Given the description of an element on the screen output the (x, y) to click on. 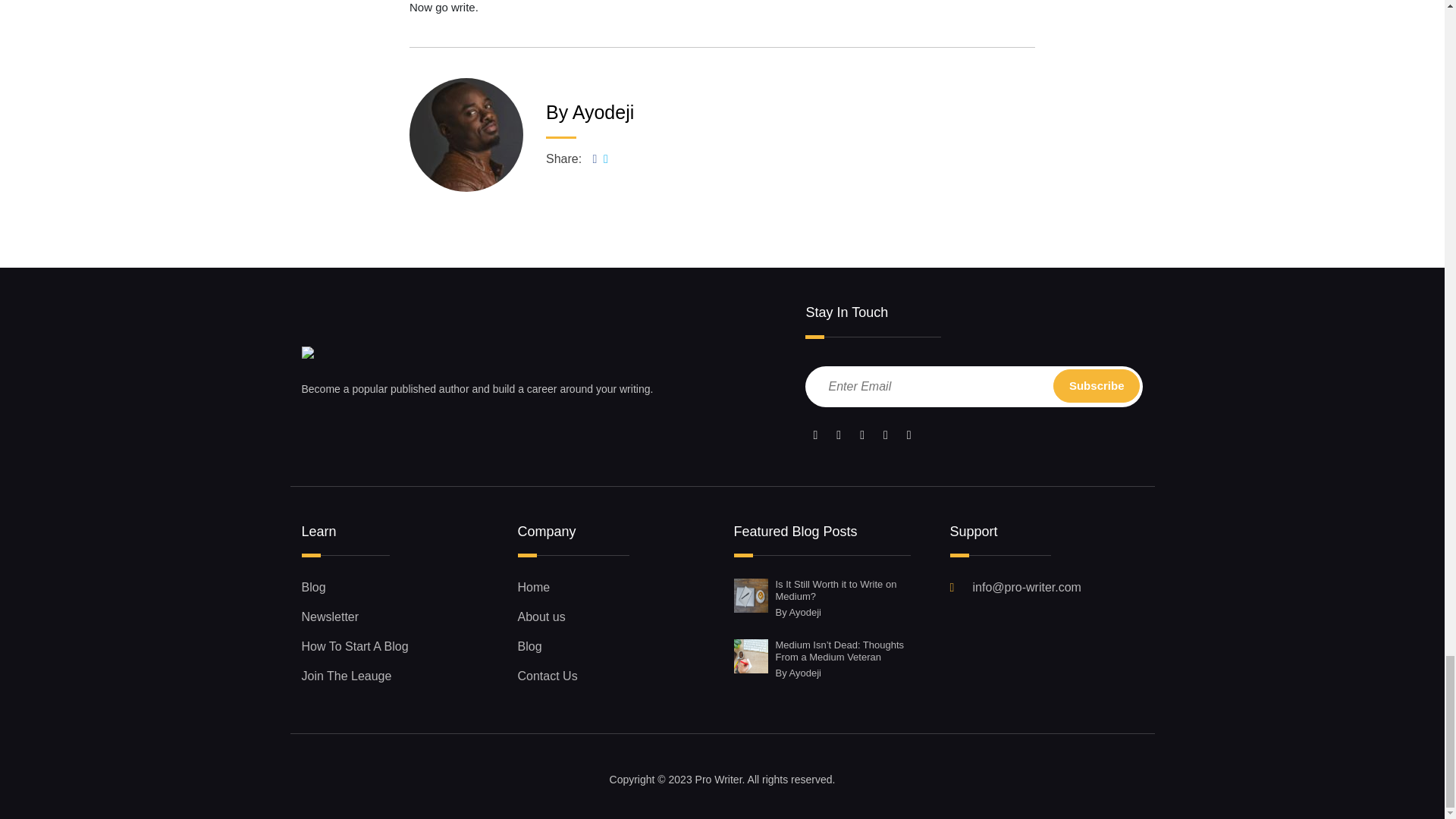
Home (613, 587)
Newsletter (398, 617)
Subscribe (1096, 386)
About us (613, 617)
Join The Leauge (398, 676)
How To Start A Blog (398, 647)
Subscribe (1096, 386)
Contact Us (613, 676)
Blog (398, 587)
Blog (613, 647)
